Given the description of an element on the screen output the (x, y) to click on. 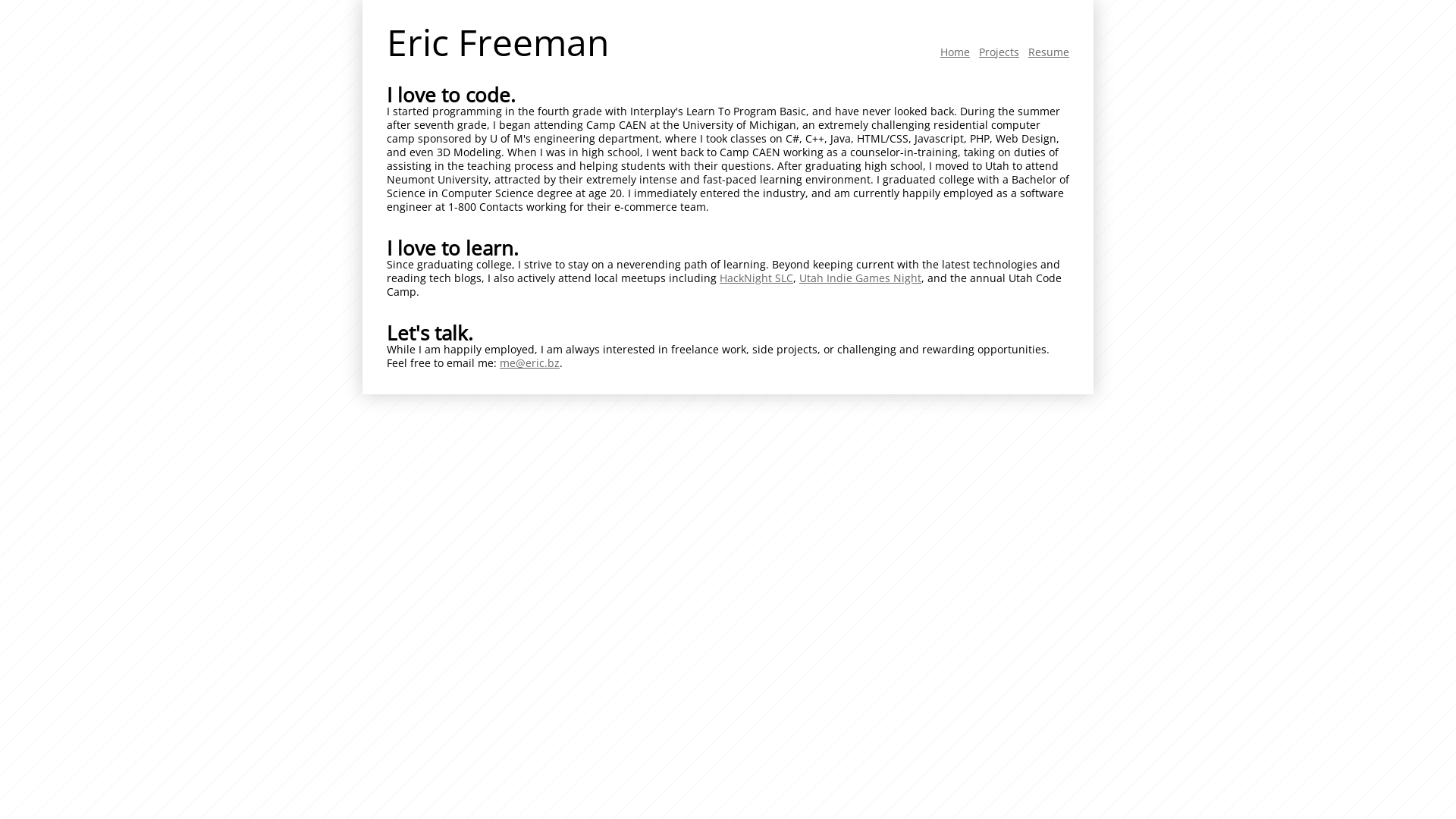
Utah Indie Games Night Element type: text (860, 277)
me@eric.bz Element type: text (529, 362)
HackNight SLC Element type: text (756, 277)
Projects Element type: text (999, 51)
Resume Element type: text (1048, 51)
Home Element type: text (954, 51)
